Given the description of an element on the screen output the (x, y) to click on. 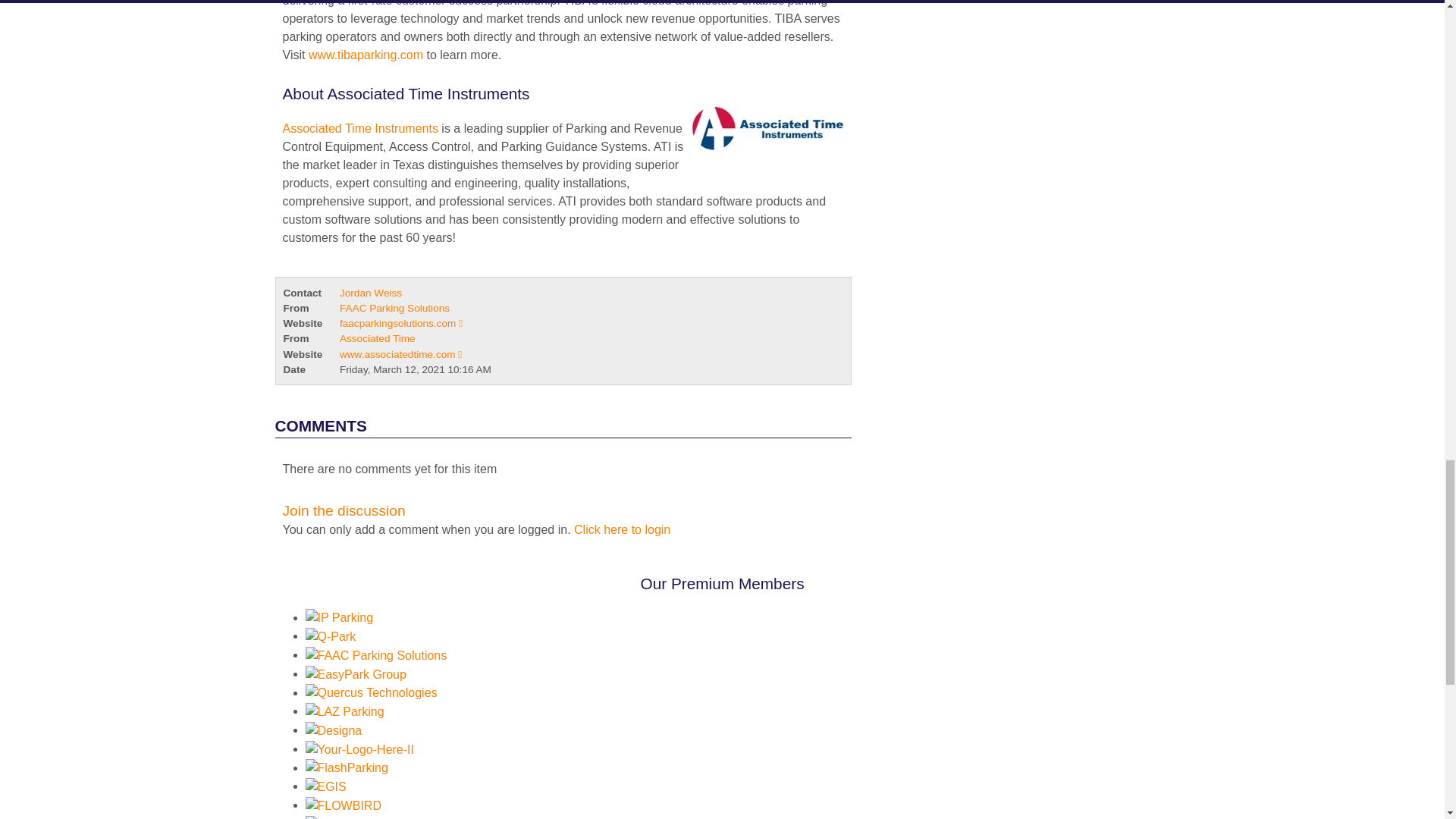
Associated Time Instruments (360, 128)
TIBA Parking Systems (365, 54)
Click here to login (621, 529)
Associated Time Instruments (763, 128)
View website of Associated Time (400, 354)
View website of FAAC Parking Solutions (401, 323)
Associated Time Instruments (360, 128)
www.tibaparking.com (365, 54)
View profile of Associated Time (376, 337)
View profile of FAAC Parking Solutions (394, 307)
